Given the description of an element on the screen output the (x, y) to click on. 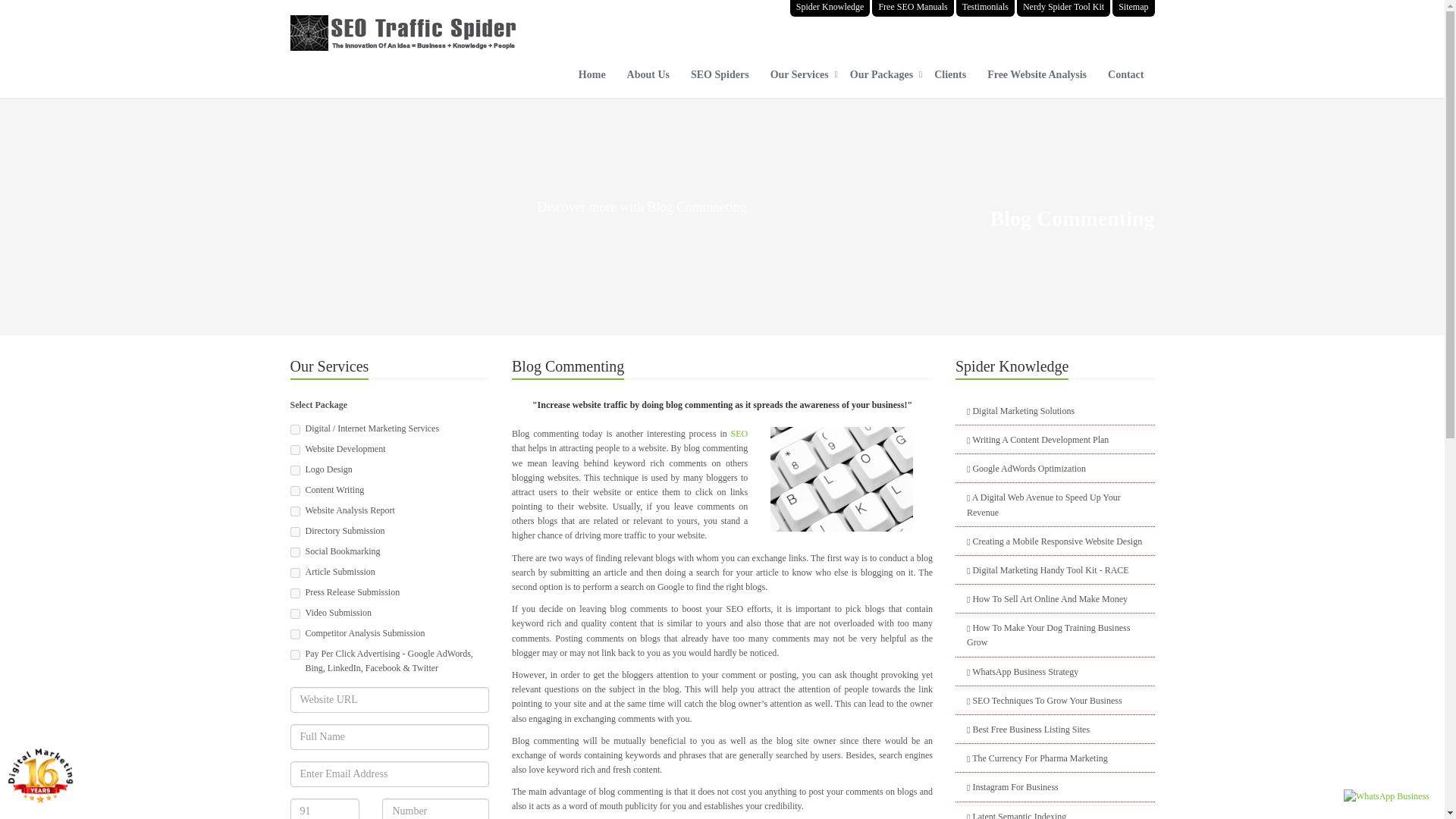
Video Submission (294, 614)
Competitor Analysis Submission (294, 655)
Testimonials (985, 8)
Social Bookmarking (294, 552)
Our Services (800, 79)
Website Analysis Report (294, 511)
Free Website Analysis (1036, 79)
Free SEO Manuals (912, 8)
Our Packages (881, 79)
Clients (949, 79)
Article Submission (294, 573)
Content Writing (294, 491)
Directory Submission (294, 532)
Contact (1125, 79)
Home (591, 79)
